Given the description of an element on the screen output the (x, y) to click on. 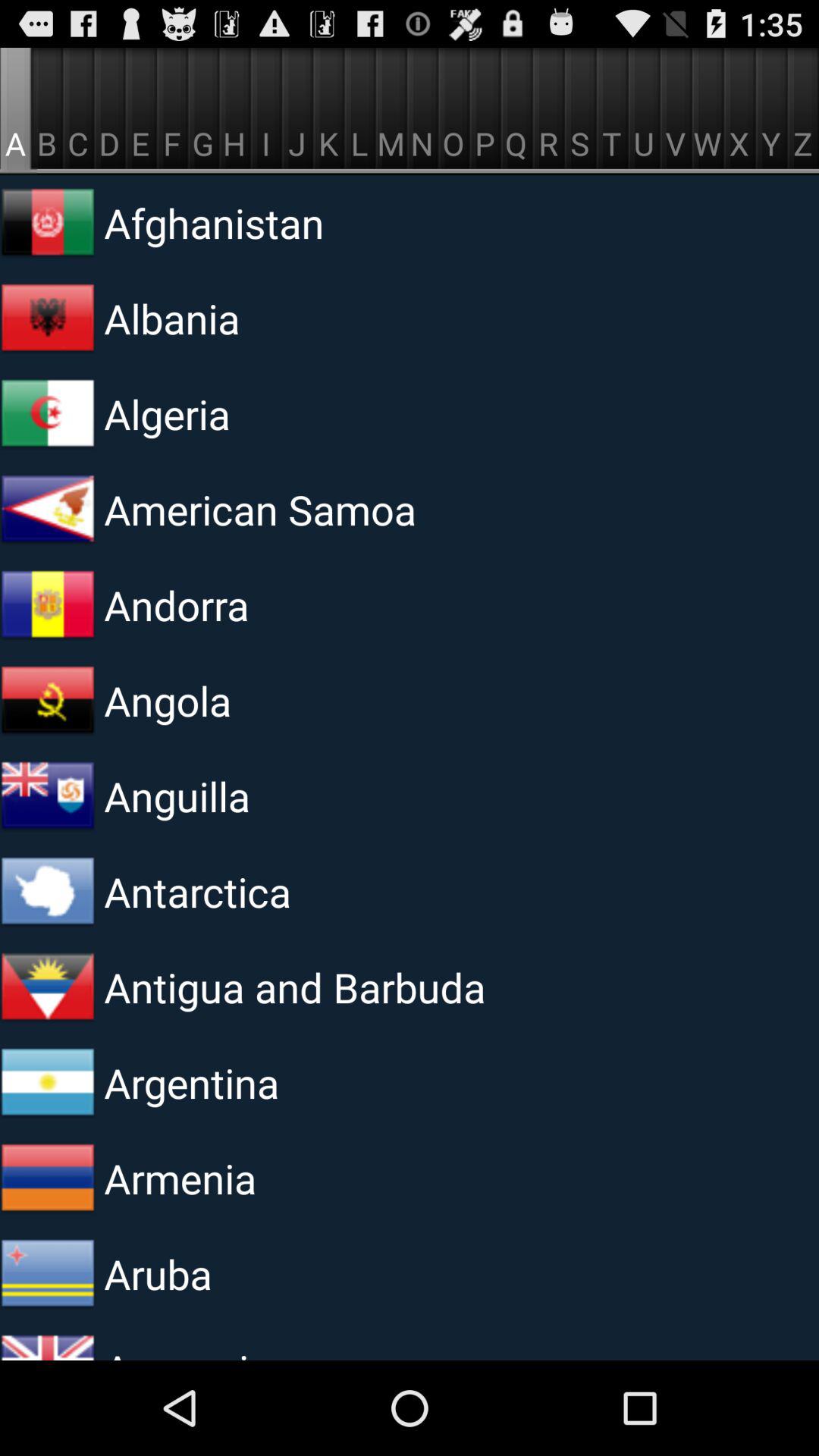
turn off icon next to the ascension item (47, 1340)
